Given the description of an element on the screen output the (x, y) to click on. 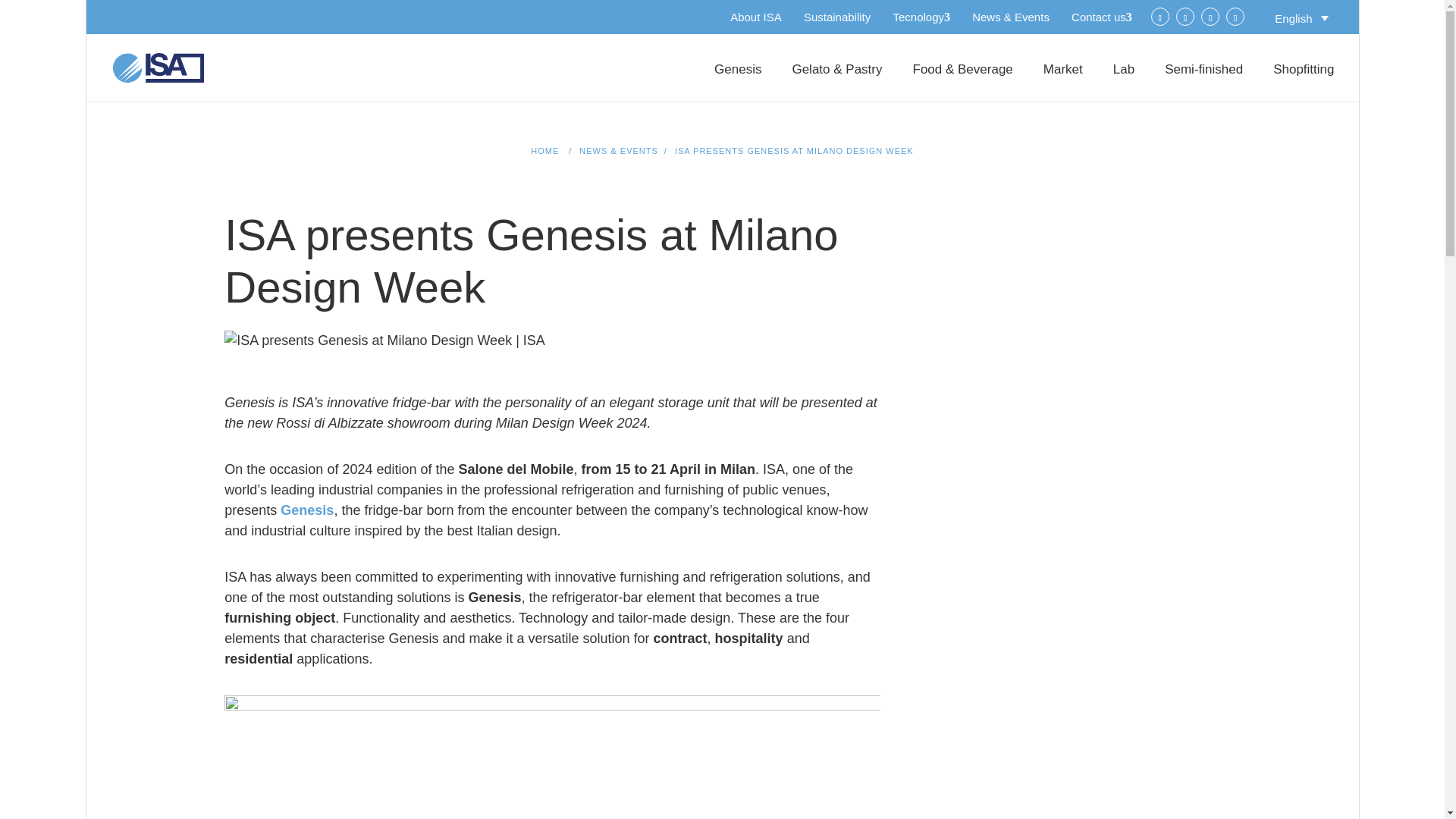
Shopfitting (1302, 82)
HOME (545, 151)
Contact us (1101, 17)
English (1300, 17)
Semi-finished (1203, 82)
Market (1063, 82)
Sustainability (836, 17)
Tecnology (921, 17)
About ISA (755, 17)
Genesis (737, 82)
